Given the description of an element on the screen output the (x, y) to click on. 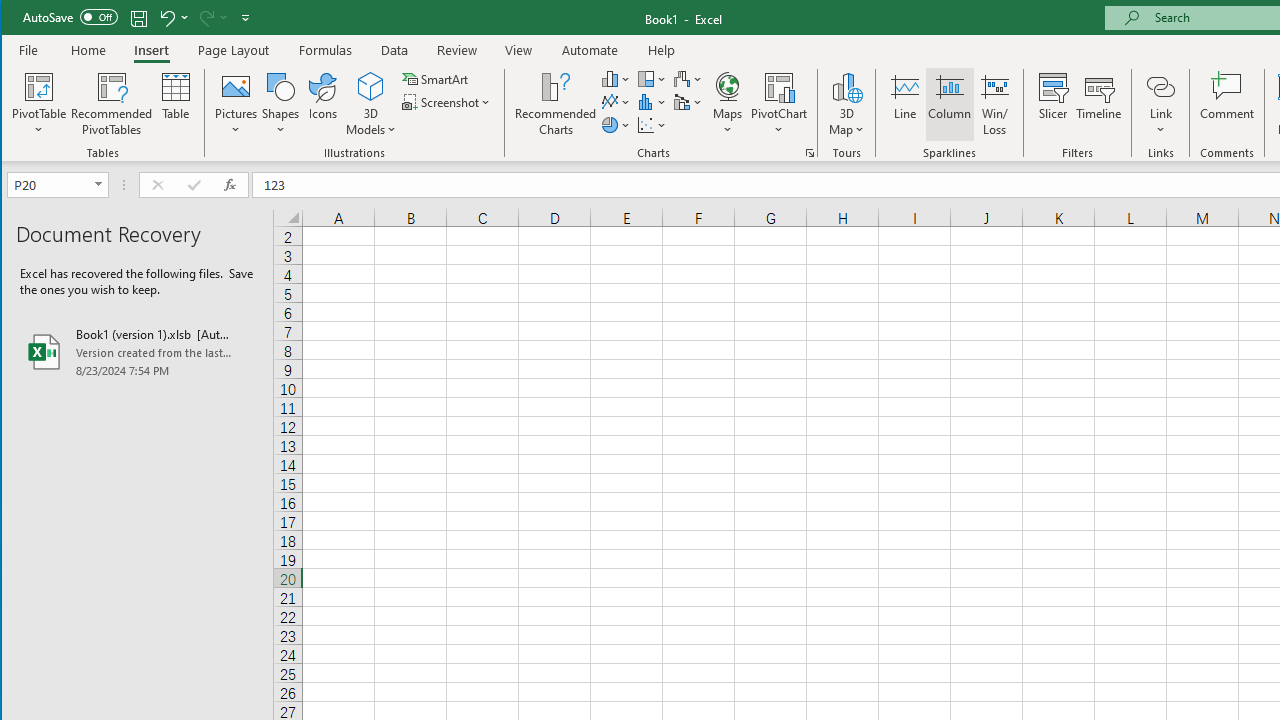
3D Models (371, 86)
PivotTable (39, 86)
Insert Scatter (X, Y) or Bubble Chart (652, 124)
Recommended Charts (809, 152)
Insert Column or Bar Chart (616, 78)
Shapes (280, 104)
Maps (727, 104)
